Given the description of an element on the screen output the (x, y) to click on. 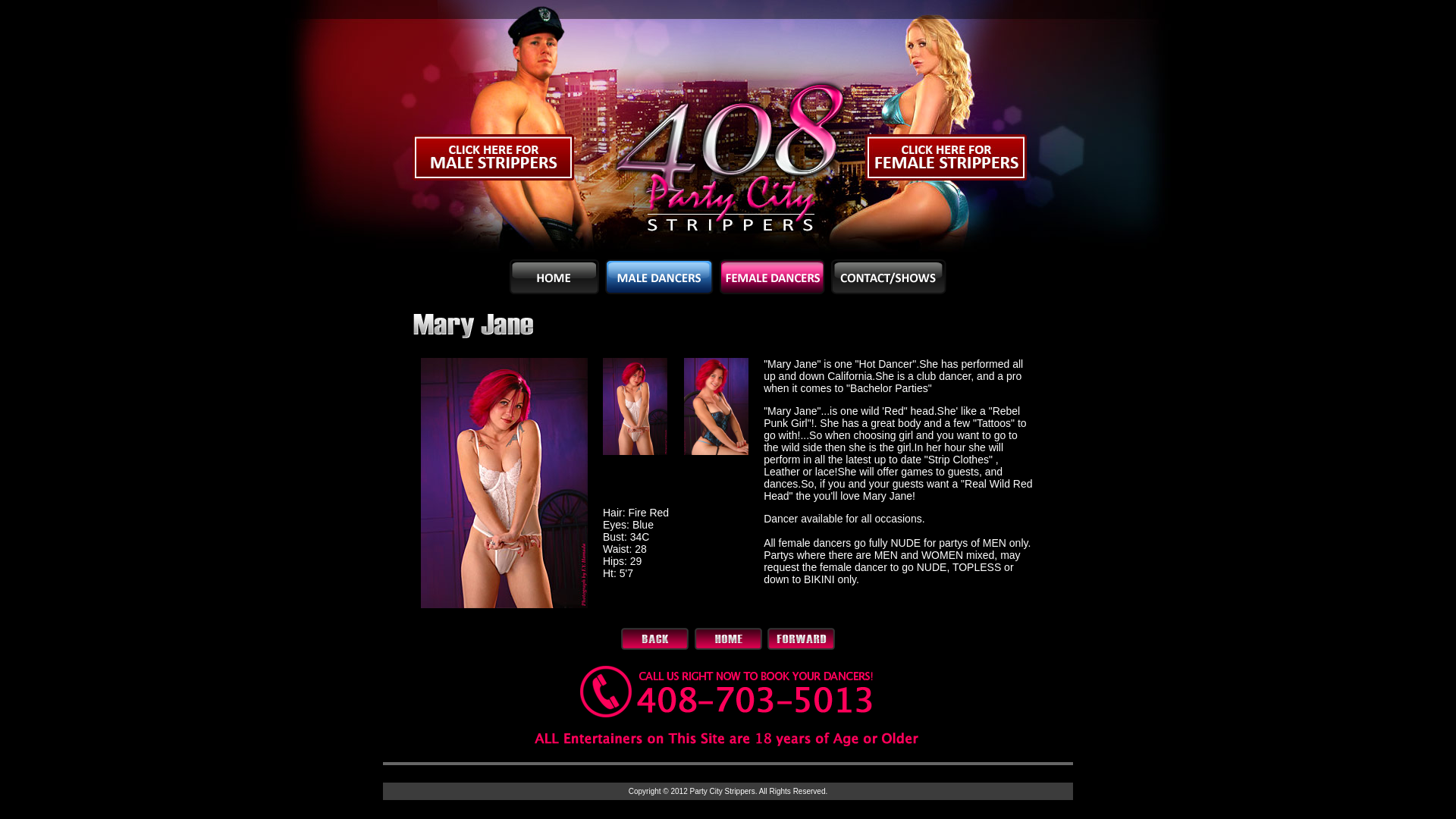
Party City Strippers, Exotic Dancers, Bay Area Strippers Element type: hover (963, 129)
Party City Strippers, Exotic Dancers, Bay Area Strippers Element type: hover (492, 129)
Party City Strippers, Exotic Dancers, Bay Area Strippers Element type: hover (727, 129)
